Given the description of an element on the screen output the (x, y) to click on. 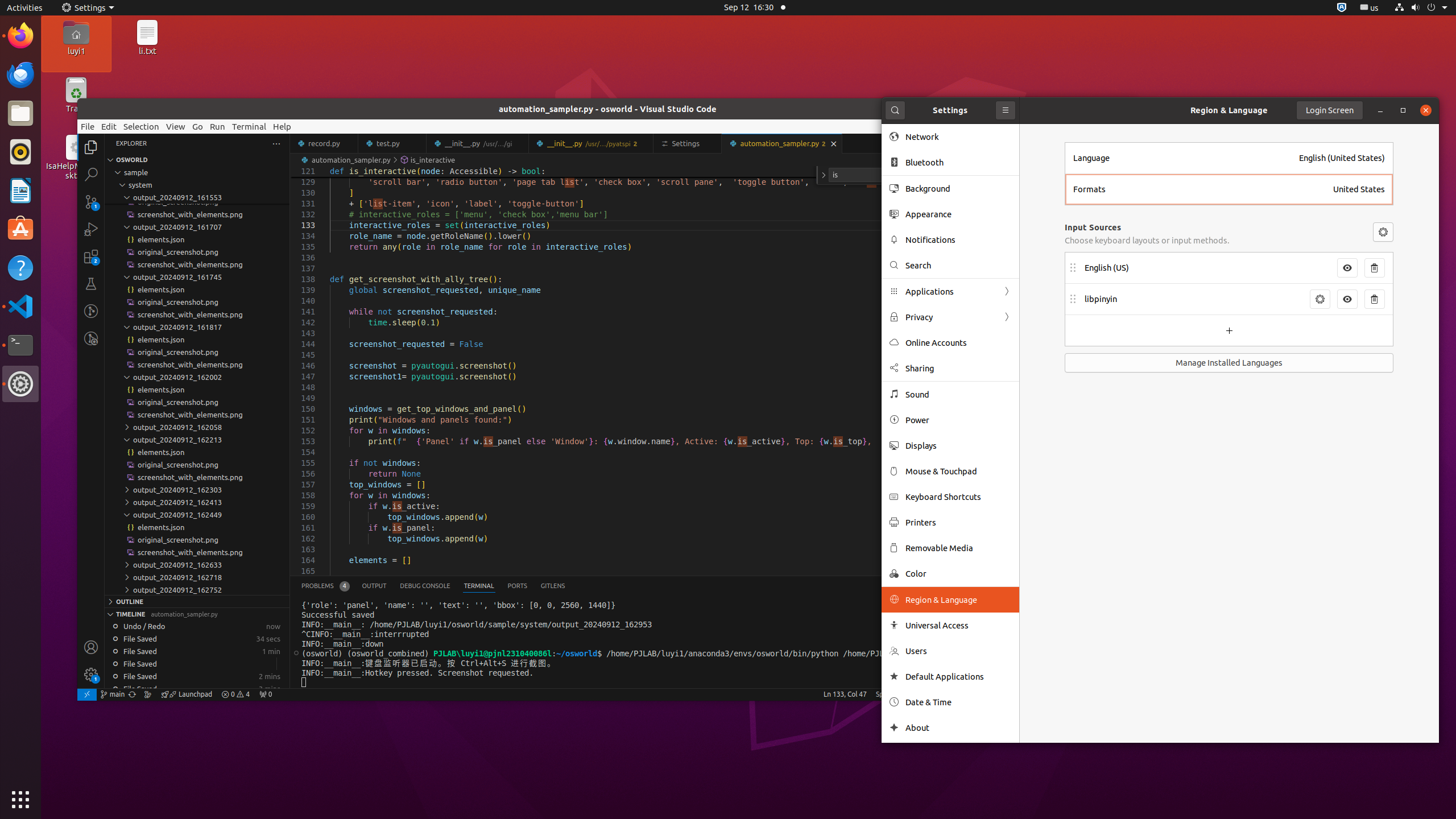
Printers Element type: label (958, 522)
Login Screen Element type: toggle-button (1329, 110)
Input Sources Element type: label (1092, 227)
Formats Element type: label (1199, 189)
Trash Element type: label (75, 108)
